Given the description of an element on the screen output the (x, y) to click on. 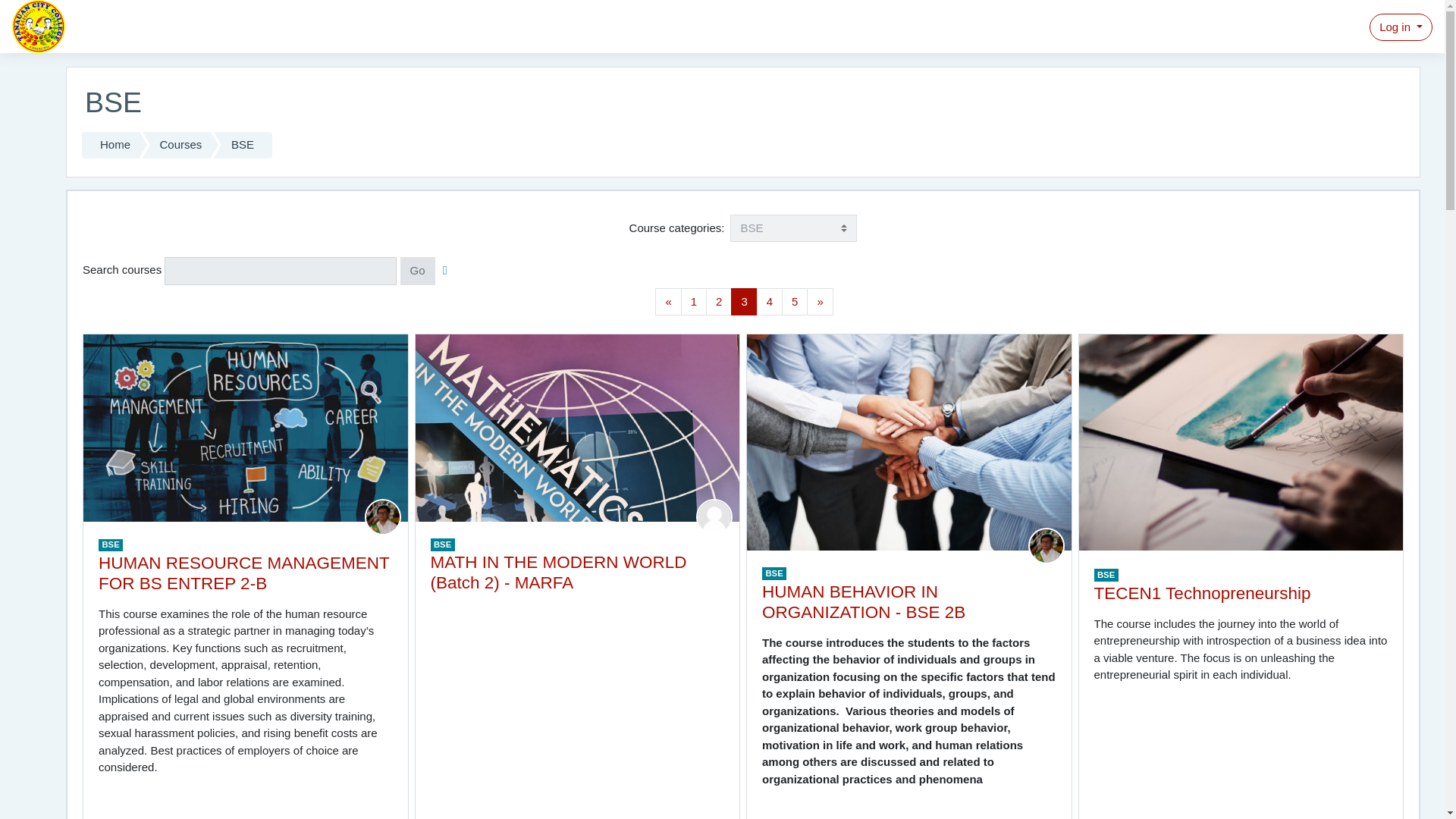
BSE (774, 573)
Dante Jr Sebastian (1045, 544)
Home (110, 144)
HUMAN RESOURCE MANAGEMENT FOR BS ENTREP 2-B (243, 572)
4 (770, 302)
BSE (110, 543)
1 (693, 302)
BSE (243, 144)
Help with Search courses (445, 270)
BSE (442, 543)
